Given the description of an element on the screen output the (x, y) to click on. 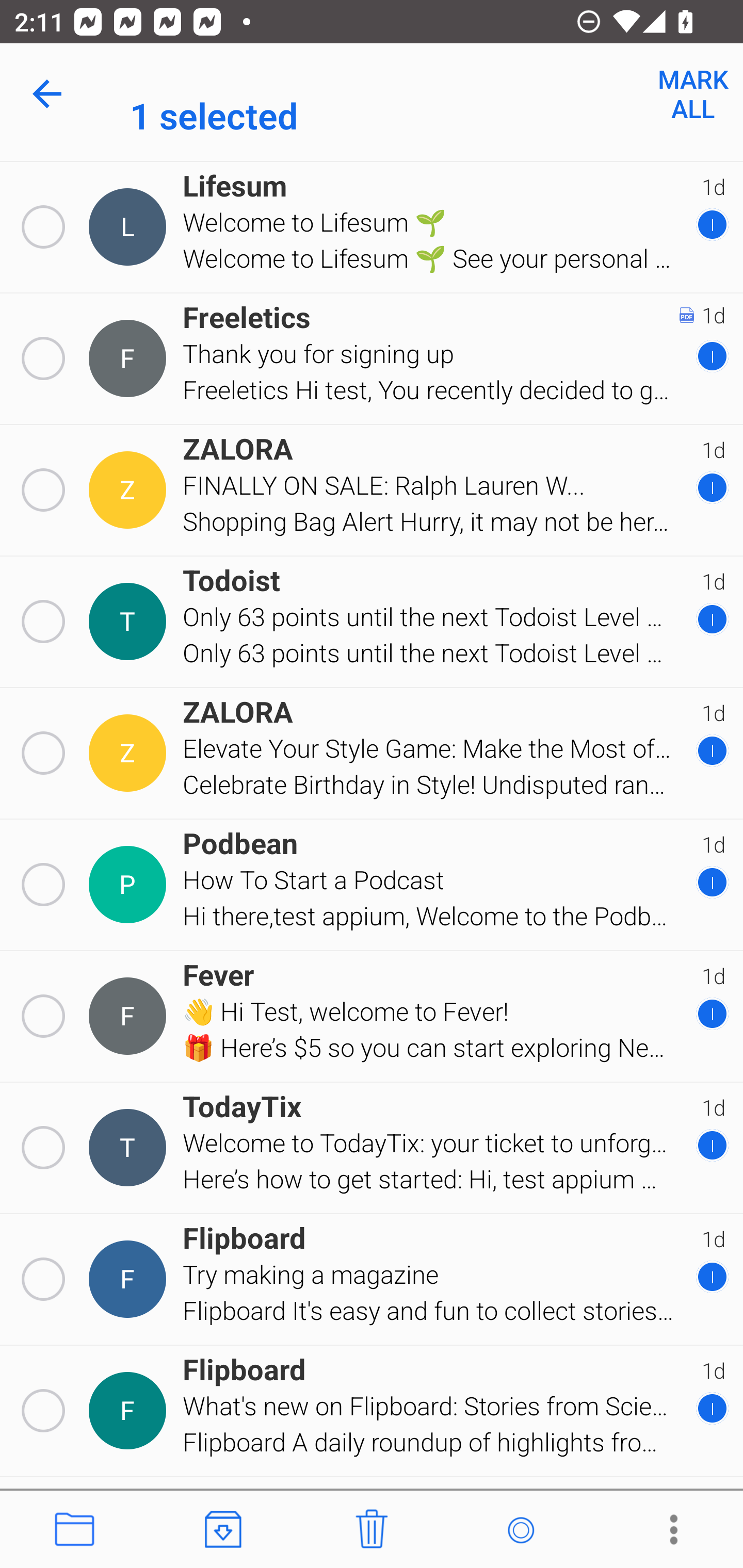
Done (50, 93)
MARK
ALL (692, 93)
Contact Details (129, 227)
Contact Details (129, 358)
Contact Details (129, 489)
Contact Details (129, 621)
Contact Details (129, 753)
Contact Details (129, 885)
Contact Details (129, 1016)
Contact Details (129, 1147)
Contact Details (129, 1279)
Contact Details (129, 1410)
Move (74, 1529)
Archive (222, 1529)
Delete (371, 1529)
Mark as Read (520, 1529)
More Options (668, 1529)
